Given the description of an element on the screen output the (x, y) to click on. 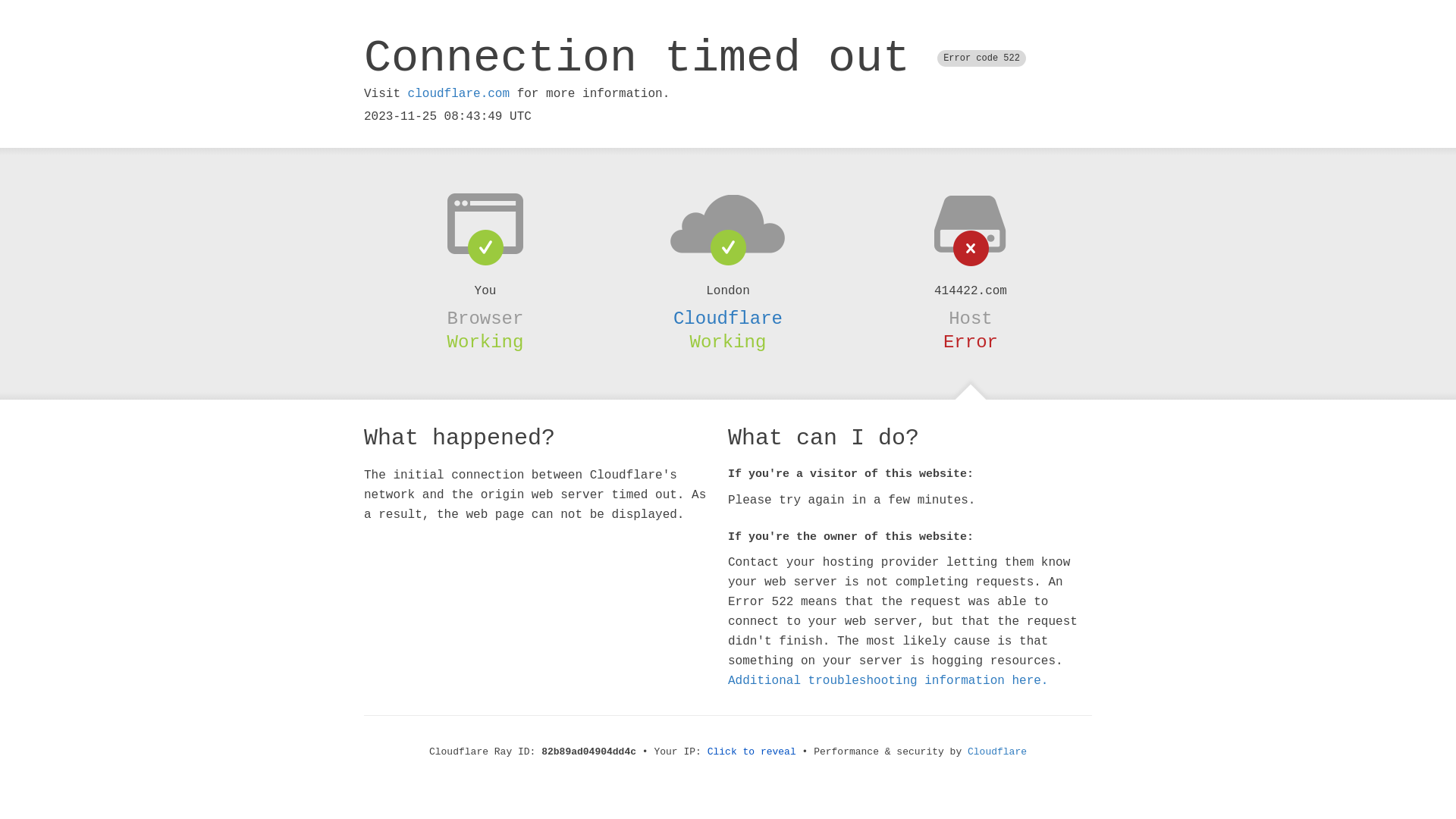
Cloudflare Element type: text (996, 751)
cloudflare.com Element type: text (458, 93)
Additional troubleshooting information here. Element type: text (888, 680)
Click to reveal Element type: text (751, 751)
Cloudflare Element type: text (727, 318)
